Given the description of an element on the screen output the (x, y) to click on. 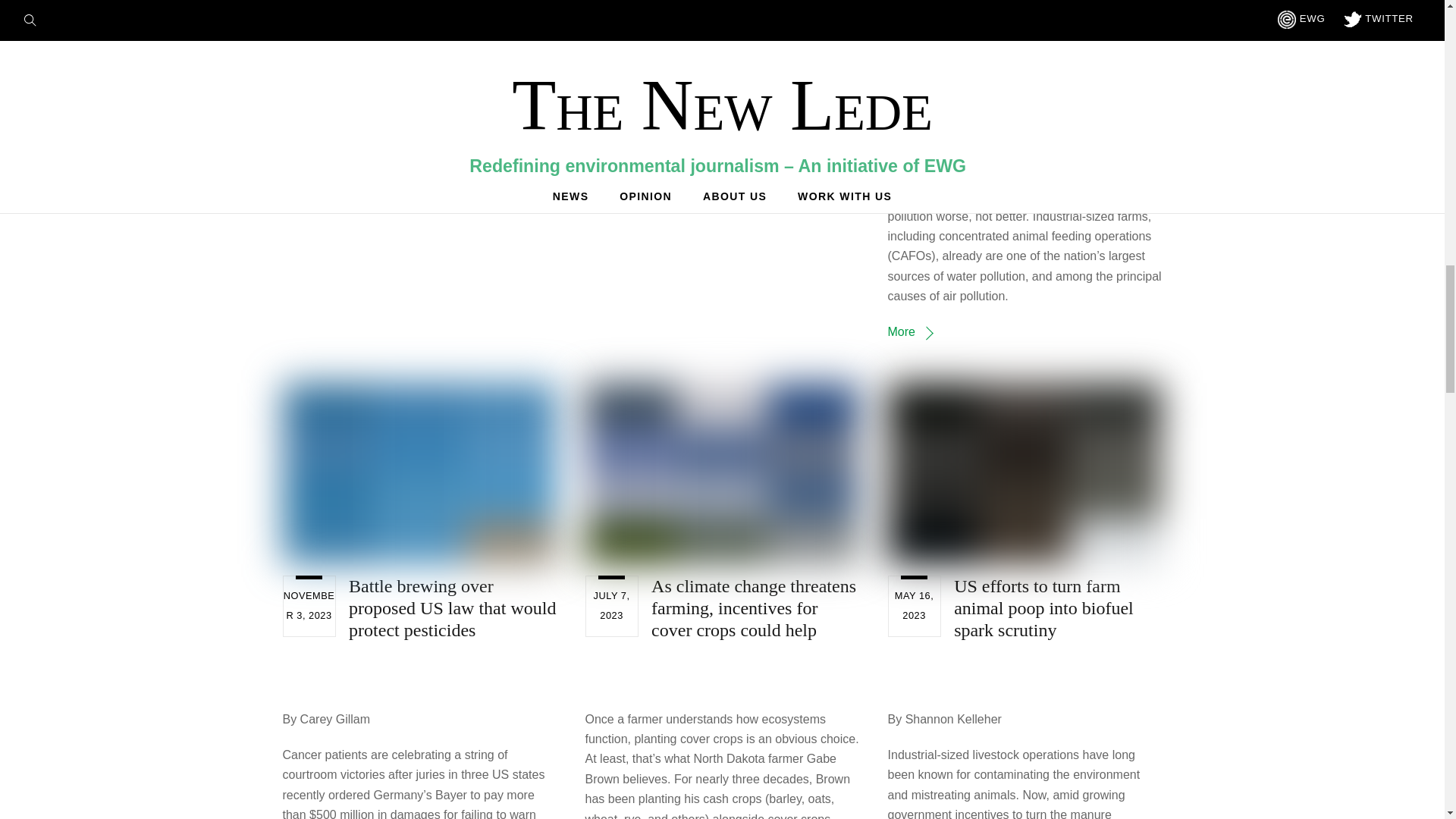
capital photo by Elijah Mears (419, 473)
More (909, 331)
3 (722, 473)
